Given the description of an element on the screen output the (x, y) to click on. 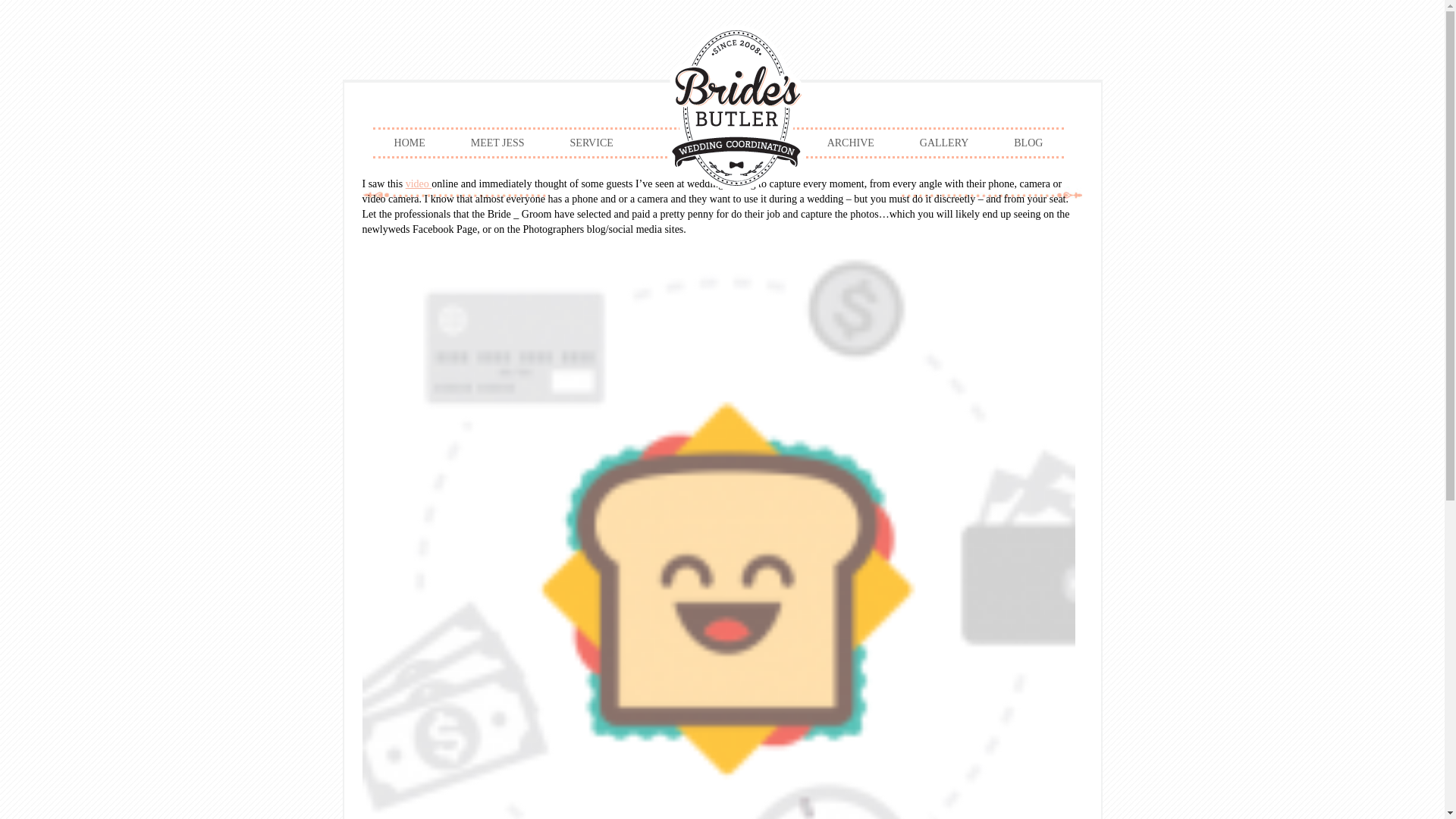
video (419, 183)
BLOG (1027, 143)
SERVICE (591, 143)
HOME (409, 143)
MEET JESS (497, 143)
Menu (718, 115)
GALLERY (944, 143)
SKIP TO CONTENT (782, 109)
ARCHIVE (851, 143)
